Given the description of an element on the screen output the (x, y) to click on. 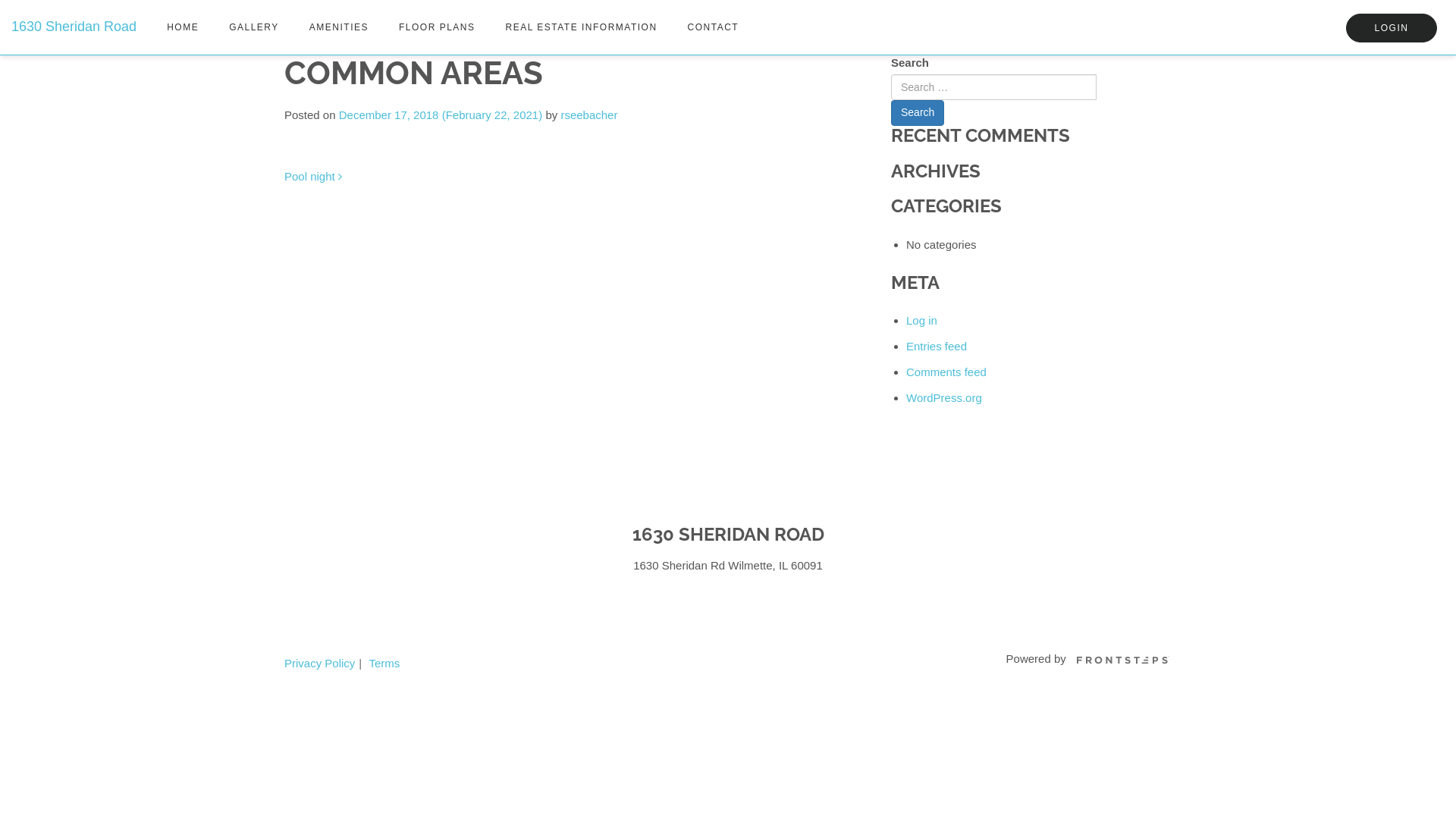
1630 Sheridan Road Element type: text (73, 18)
Privacy Policy Element type: text (319, 662)
rseebacher Element type: text (588, 114)
Log in Element type: text (921, 319)
Search Element type: text (917, 112)
Entries feed Element type: text (936, 345)
GALLERY Element type: text (253, 27)
FLOOR PLANS Element type: text (436, 27)
AMENITIES Element type: text (338, 27)
December 17, 2018 (February 22, 2021) Element type: text (442, 114)
Comments feed Element type: text (946, 371)
REAL ESTATE INFORMATION Element type: text (581, 27)
Terms Element type: text (383, 662)
HOME Element type: text (182, 27)
Pool night  Element type: text (313, 175)
CONTACT Element type: text (713, 27)
WordPress.org Element type: text (944, 397)
LOGIN Element type: text (1391, 27)
